Given the description of an element on the screen output the (x, y) to click on. 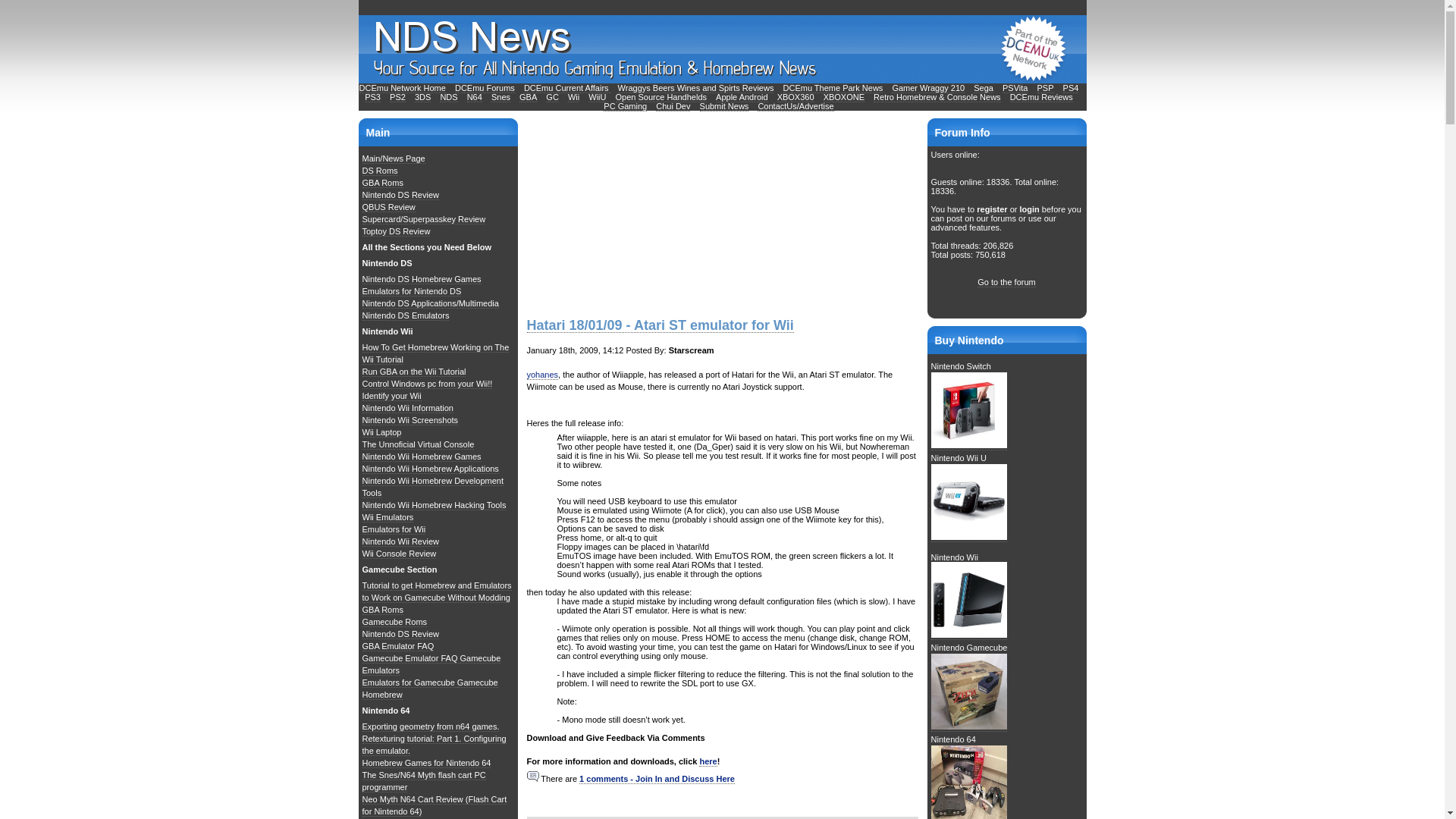
Advertisement (638, 212)
XBOXONE (844, 97)
DCEmu Network Home (402, 88)
PC Gaming (625, 106)
PS3 (372, 97)
PSP (1045, 88)
GBA (528, 97)
N64 (474, 97)
Nintendo DS Review (400, 194)
DCEmu Forums (484, 88)
Toptoy DS Review (396, 231)
DS Roms (379, 171)
Chui Dev (673, 106)
GC (552, 97)
Submit News (724, 106)
